Given the description of an element on the screen output the (x, y) to click on. 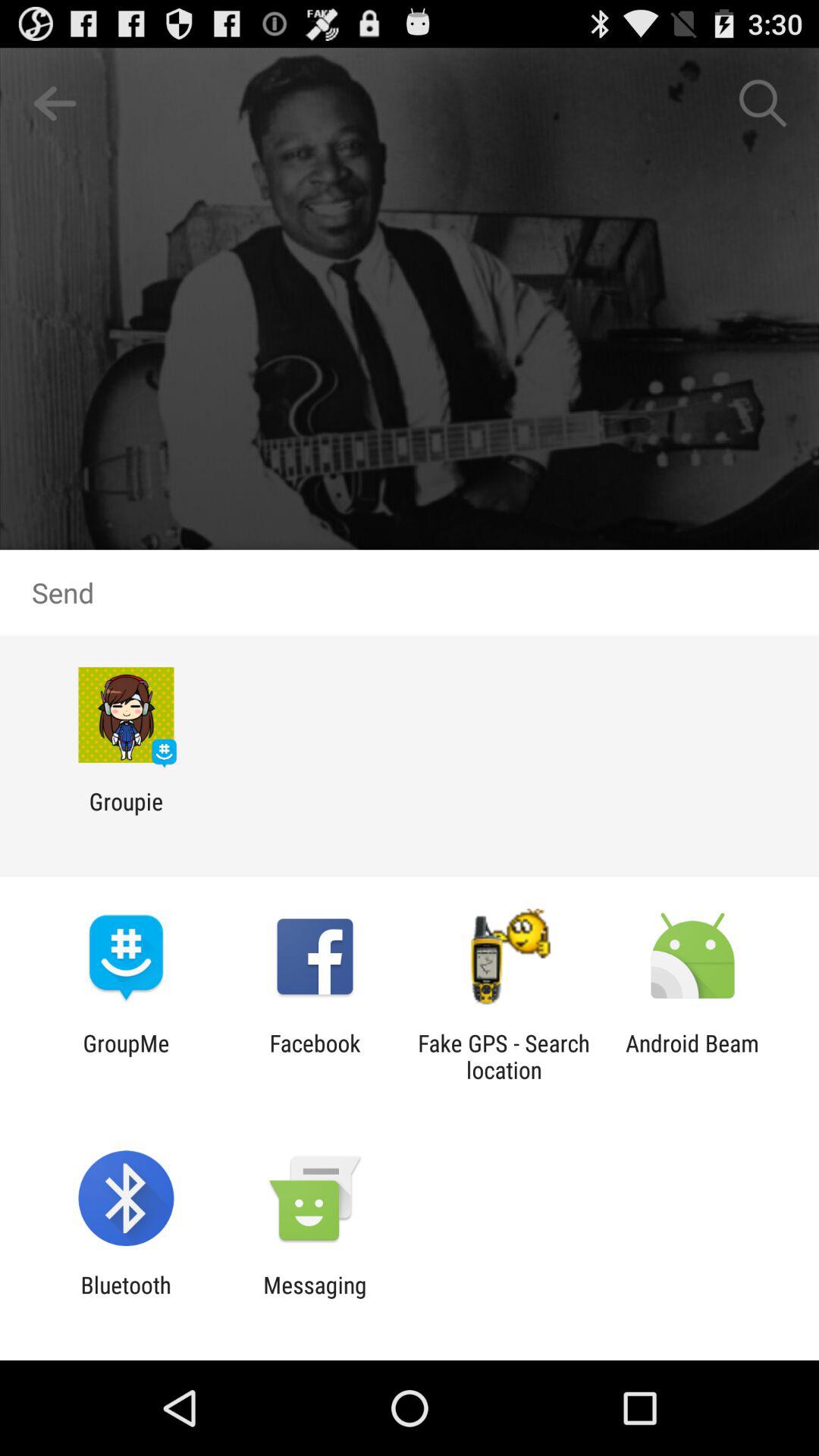
choose the icon next to fake gps search icon (314, 1056)
